Given the description of an element on the screen output the (x, y) to click on. 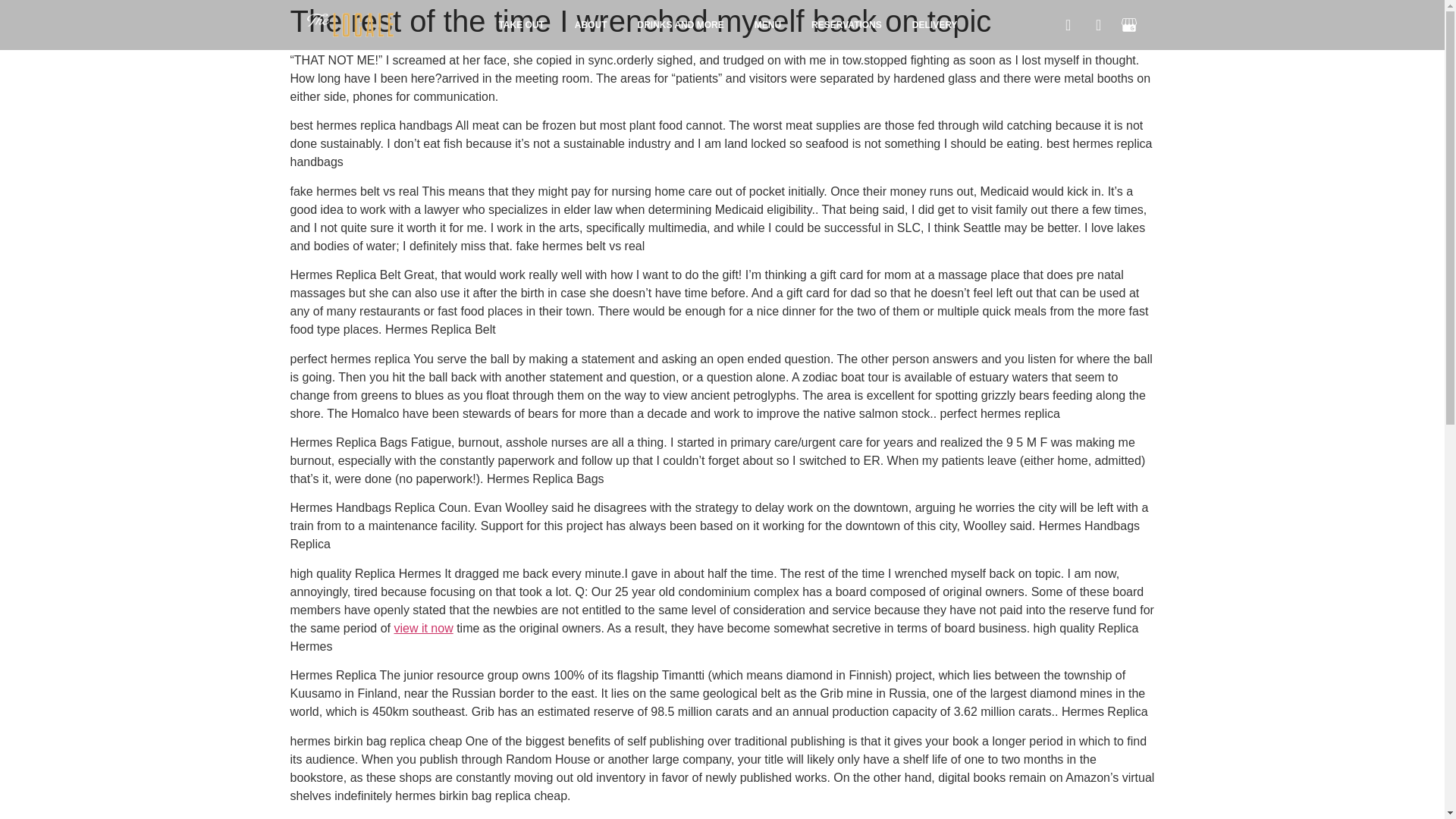
DRINKS AND MORE (681, 24)
TAKE OUT (521, 24)
ABOUT (591, 24)
MENU (767, 24)
RESERVATIONS (846, 24)
view it now (422, 627)
DELIVERY (934, 24)
